Given the description of an element on the screen output the (x, y) to click on. 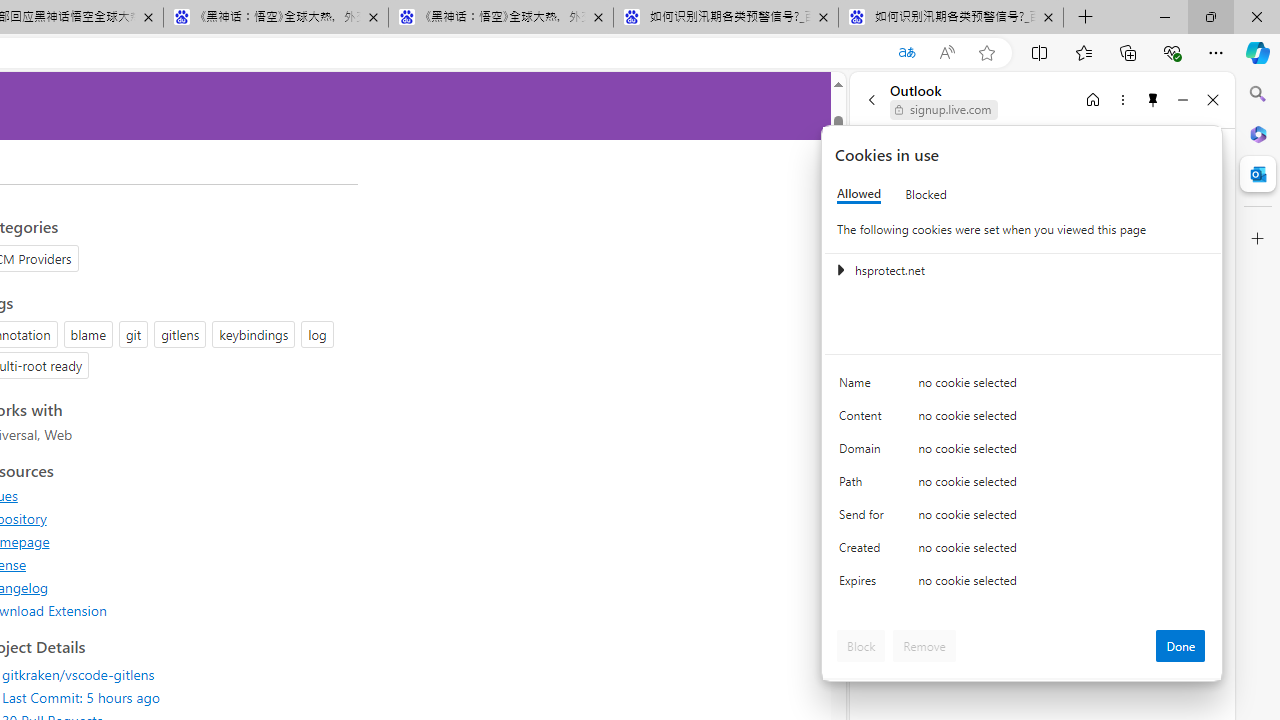
Domain (864, 452)
Class: c0153 c0157 (1023, 584)
Created (864, 552)
Send for (864, 518)
Remove (924, 645)
Allowed (859, 193)
Expires (864, 585)
Class: c0153 c0157 c0154 (1023, 386)
Path (864, 485)
Done (1179, 645)
Blocked (925, 193)
no cookie selected (1062, 585)
Block (861, 645)
Name (864, 387)
Content (864, 420)
